Given the description of an element on the screen output the (x, y) to click on. 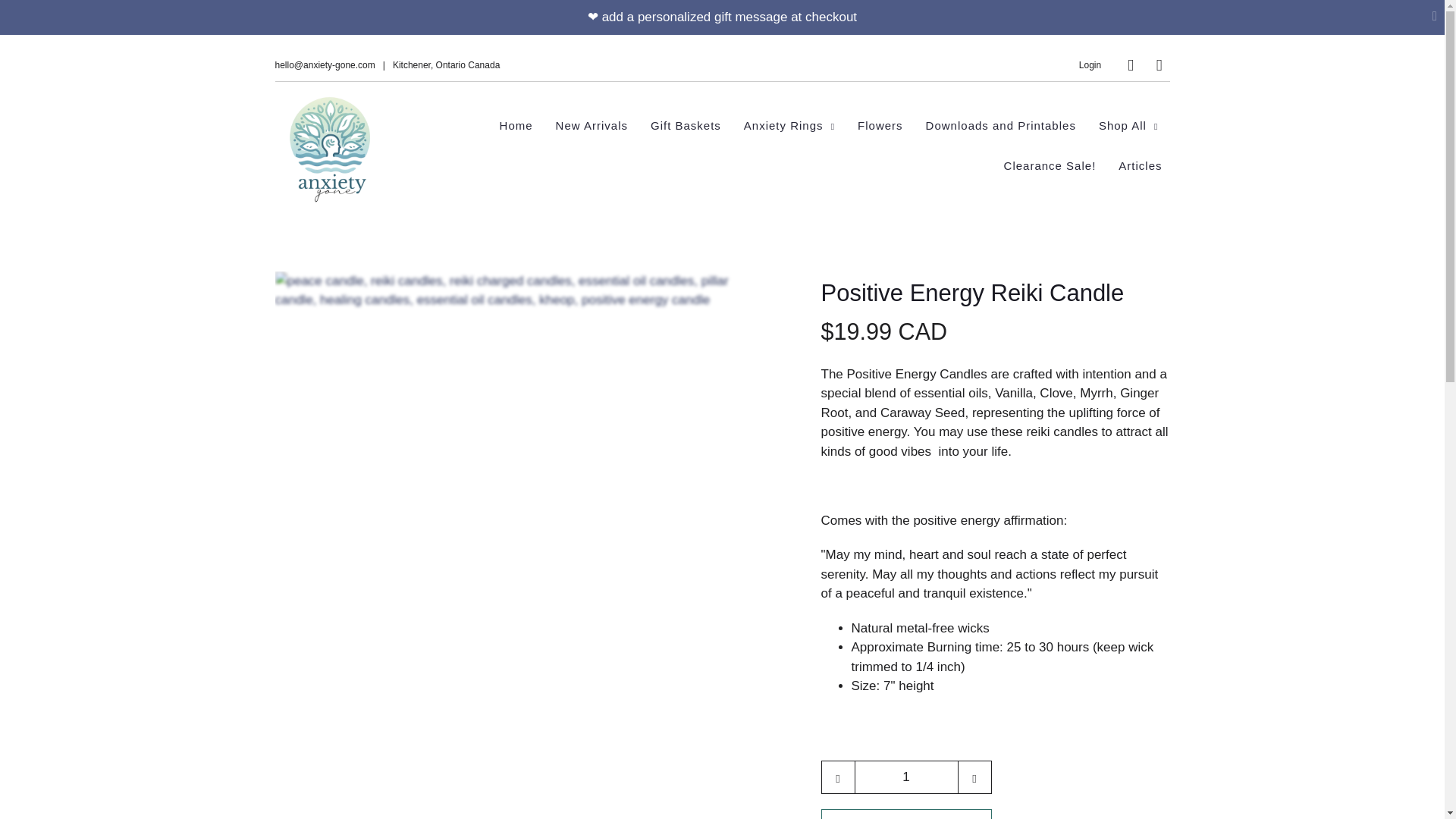
Login (1089, 64)
Flowers (880, 126)
Gift Baskets (686, 126)
Anxiety Rings (789, 126)
Downloads and Printables (1000, 126)
Home (516, 126)
New Arrivals (591, 126)
My Account  (1089, 64)
1 (905, 776)
